Given the description of an element on the screen output the (x, y) to click on. 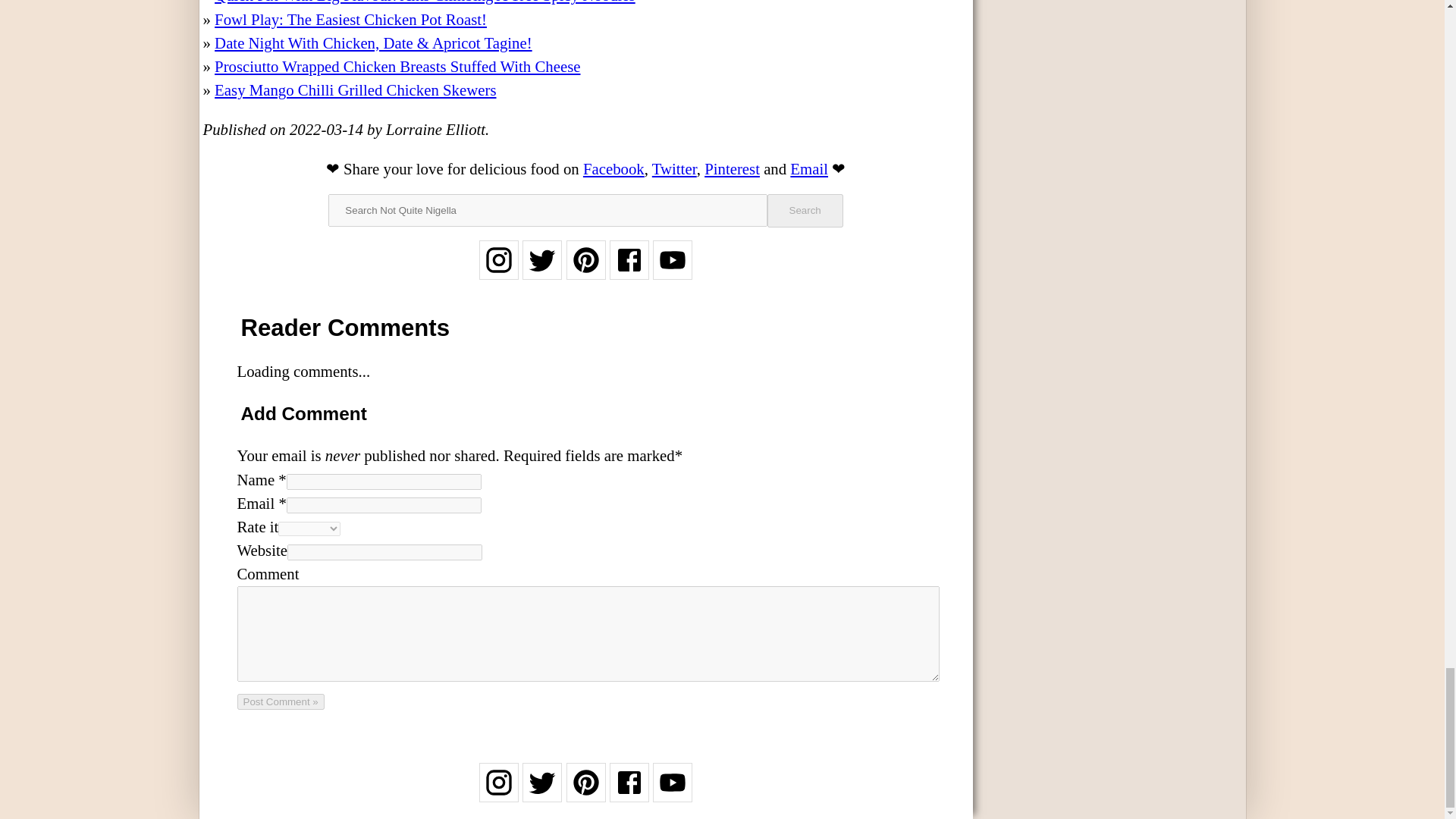
Search (805, 210)
Follow on Facebook (629, 791)
Follow on Twitter (542, 791)
Facebook (614, 168)
Pin it (732, 168)
Twitter (674, 168)
Share on Facebook (614, 168)
Search (805, 210)
Fowl Play: The Easiest Chicken Pot Roast! (350, 18)
Follow on Twitter (542, 269)
Pinterest (732, 168)
Follow on Instagram (498, 791)
Tweet (674, 168)
Follow on Pinterest (584, 269)
Follow on YouTube (672, 269)
